Given the description of an element on the screen output the (x, y) to click on. 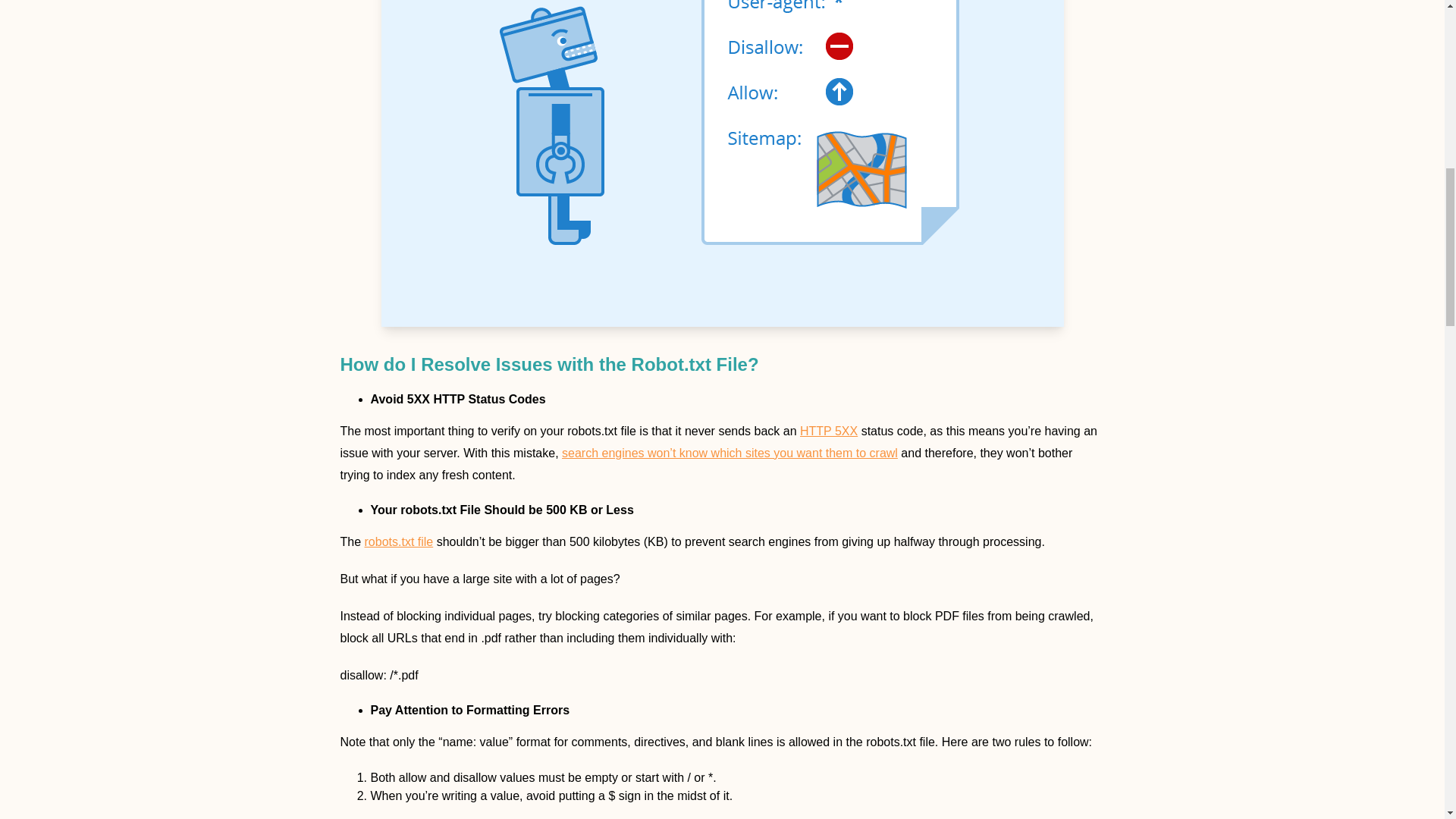
HTTP 5XX (828, 431)
robots.txt file (399, 541)
